Given the description of an element on the screen output the (x, y) to click on. 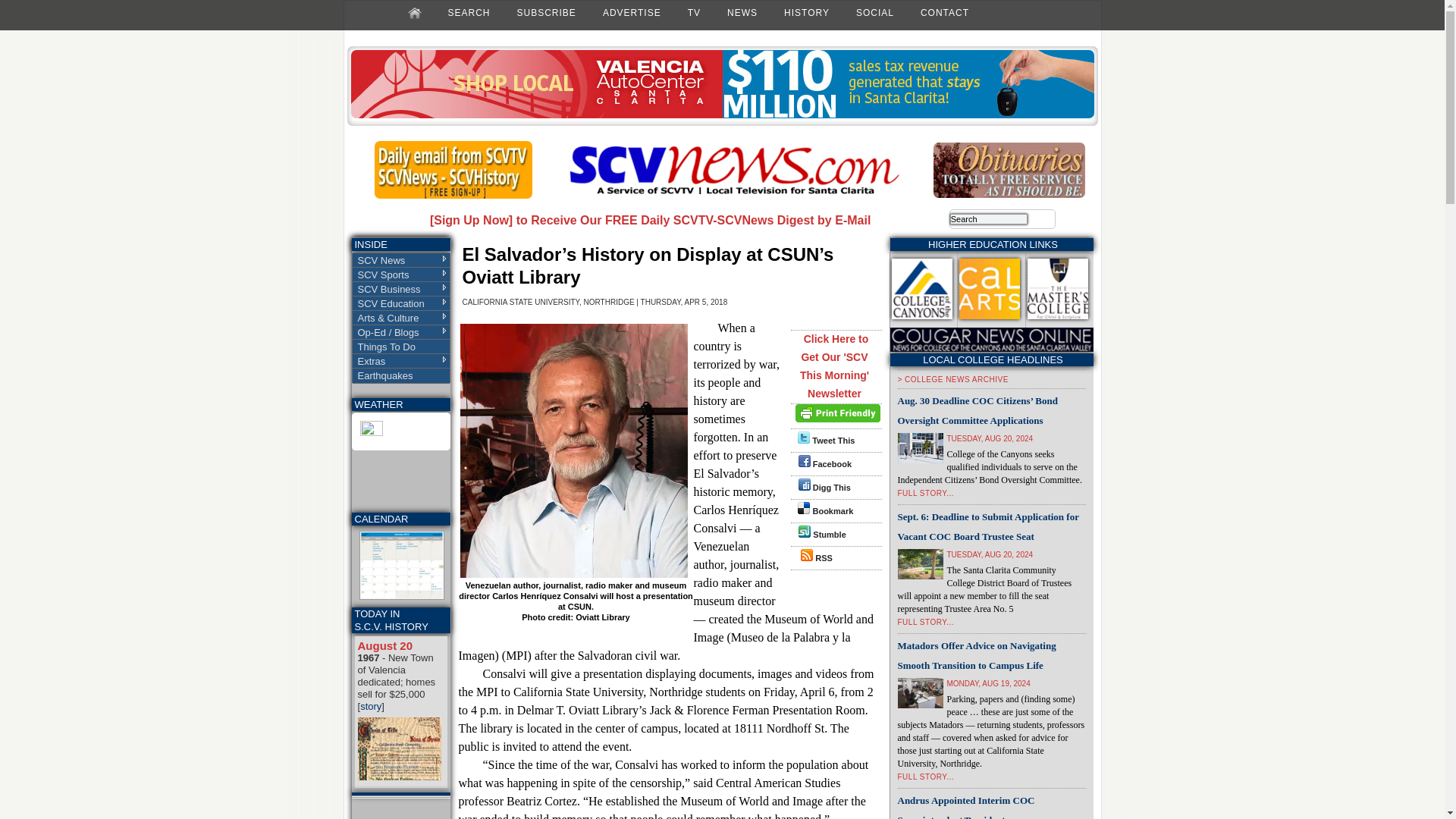
SUBSCRIBE (546, 12)
Obituaries (1008, 194)
Search (988, 218)
ADVERTISE (631, 12)
SEARCH (468, 12)
NEWS (742, 12)
Auto Mall (721, 114)
Eletter (453, 195)
TV (693, 12)
Posts by California State University, Northridge (548, 302)
